Given the description of an element on the screen output the (x, y) to click on. 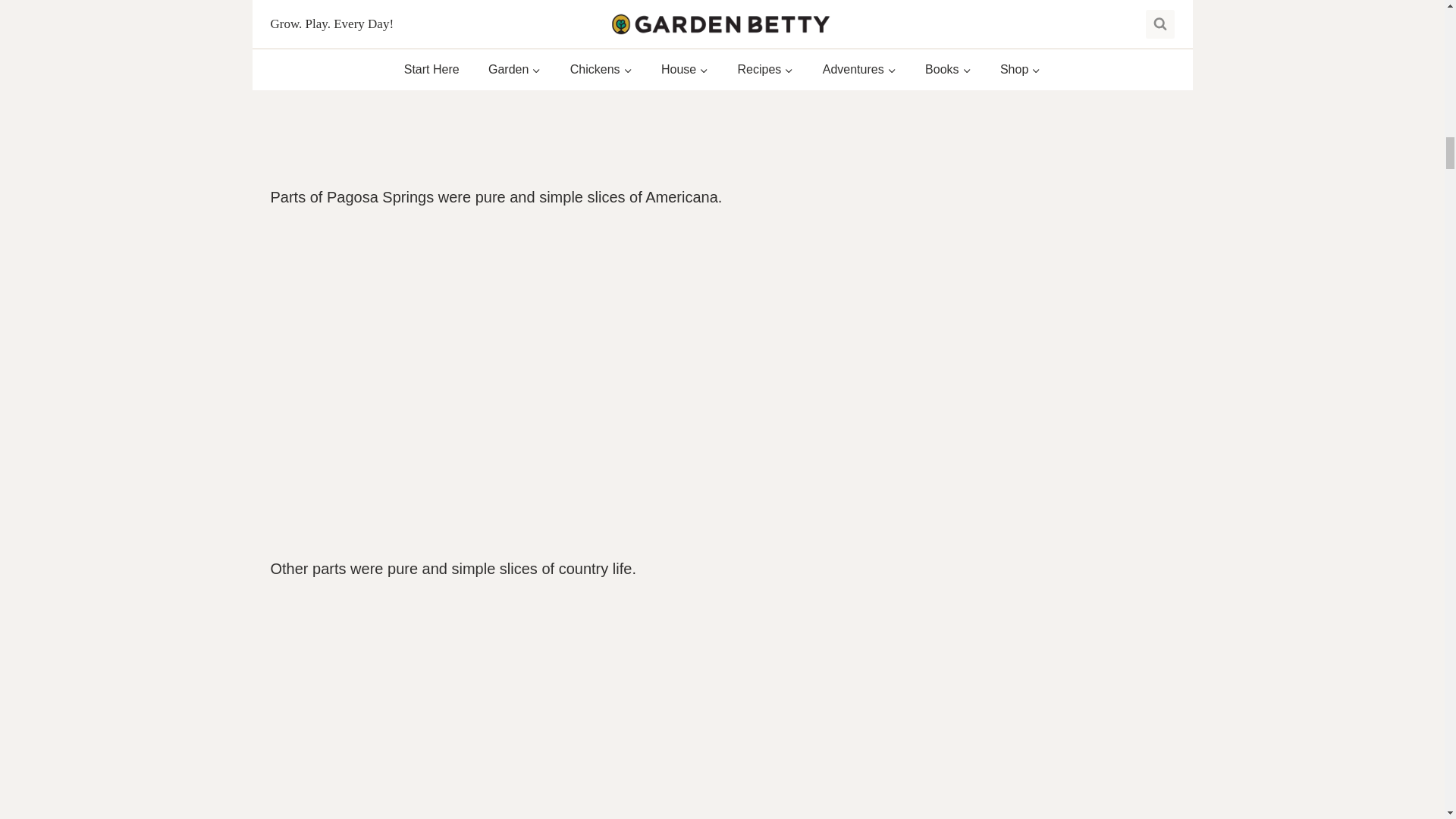
Favorite Moments from Pagosa Springs (563, 712)
Favorite Moments from Pagosa Springs (563, 79)
